Given the description of an element on the screen output the (x, y) to click on. 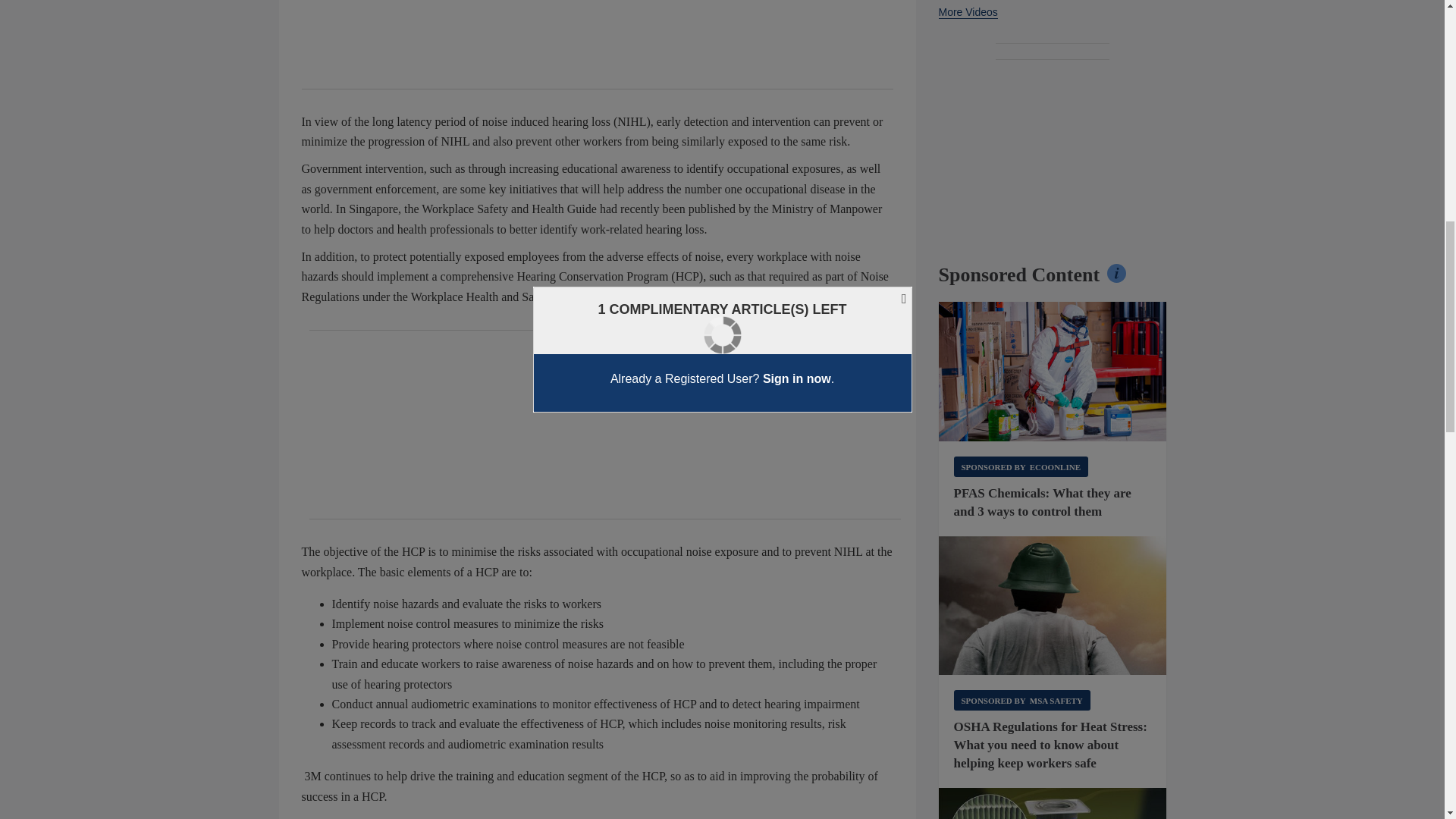
man working in summer heat (1052, 605)
Sponsored by MSA Safety (1021, 700)
dust collector filters and media (1052, 803)
chemical safety (1052, 371)
Sponsored by EcoOnline (1021, 466)
